Given the description of an element on the screen output the (x, y) to click on. 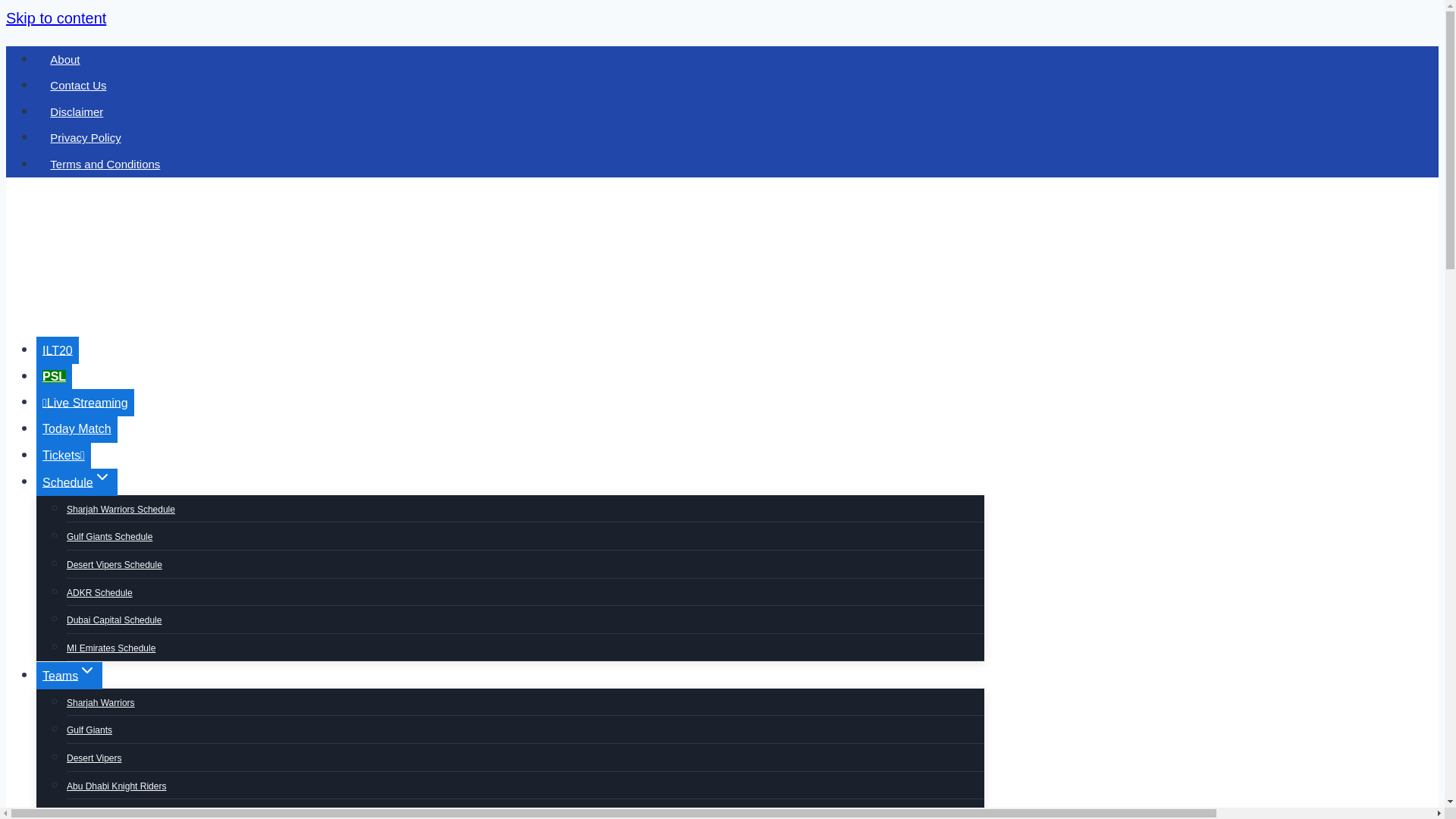
Gulf Giants Schedule (109, 536)
ILT20 (57, 349)
Gulf Giants (89, 729)
ADKR Schedule (99, 592)
Dubai Capital Schedule (113, 620)
Sharjah Warriors Schedule (120, 509)
PSL (53, 375)
Dubai Capitals (95, 809)
Skip to content (55, 17)
Desert Vipers Schedule (113, 564)
Expand (102, 476)
Disclaimer (76, 111)
TeamsExpand (68, 675)
Abu Dhabi Knight Riders (115, 786)
Desert Vipers (93, 758)
